Given the description of an element on the screen output the (x, y) to click on. 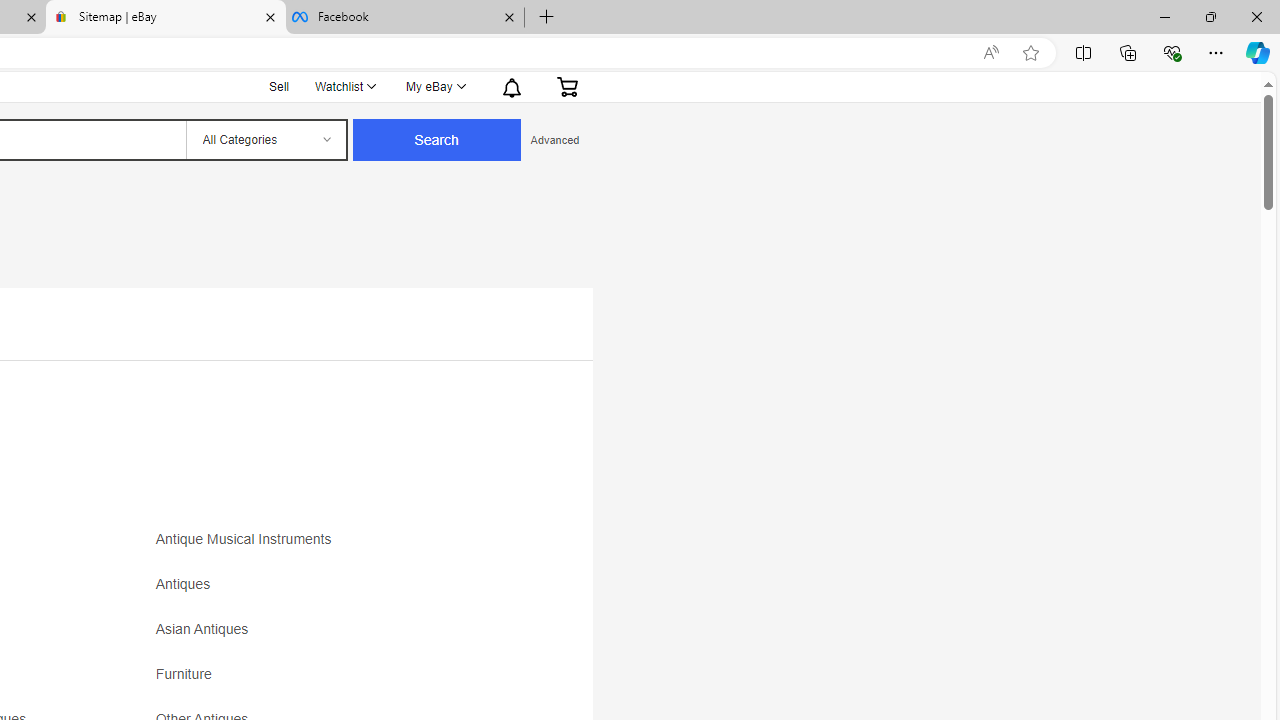
Antiques (187, 583)
Advanced Search (554, 139)
Asian Antiques (206, 629)
Select a category for search (265, 139)
My eBay (434, 86)
My eBayExpand My eBay (434, 86)
WatchlistExpand Watch List (344, 86)
Asian Antiques (332, 636)
Notification (512, 86)
Notification (510, 86)
